Given the description of an element on the screen output the (x, y) to click on. 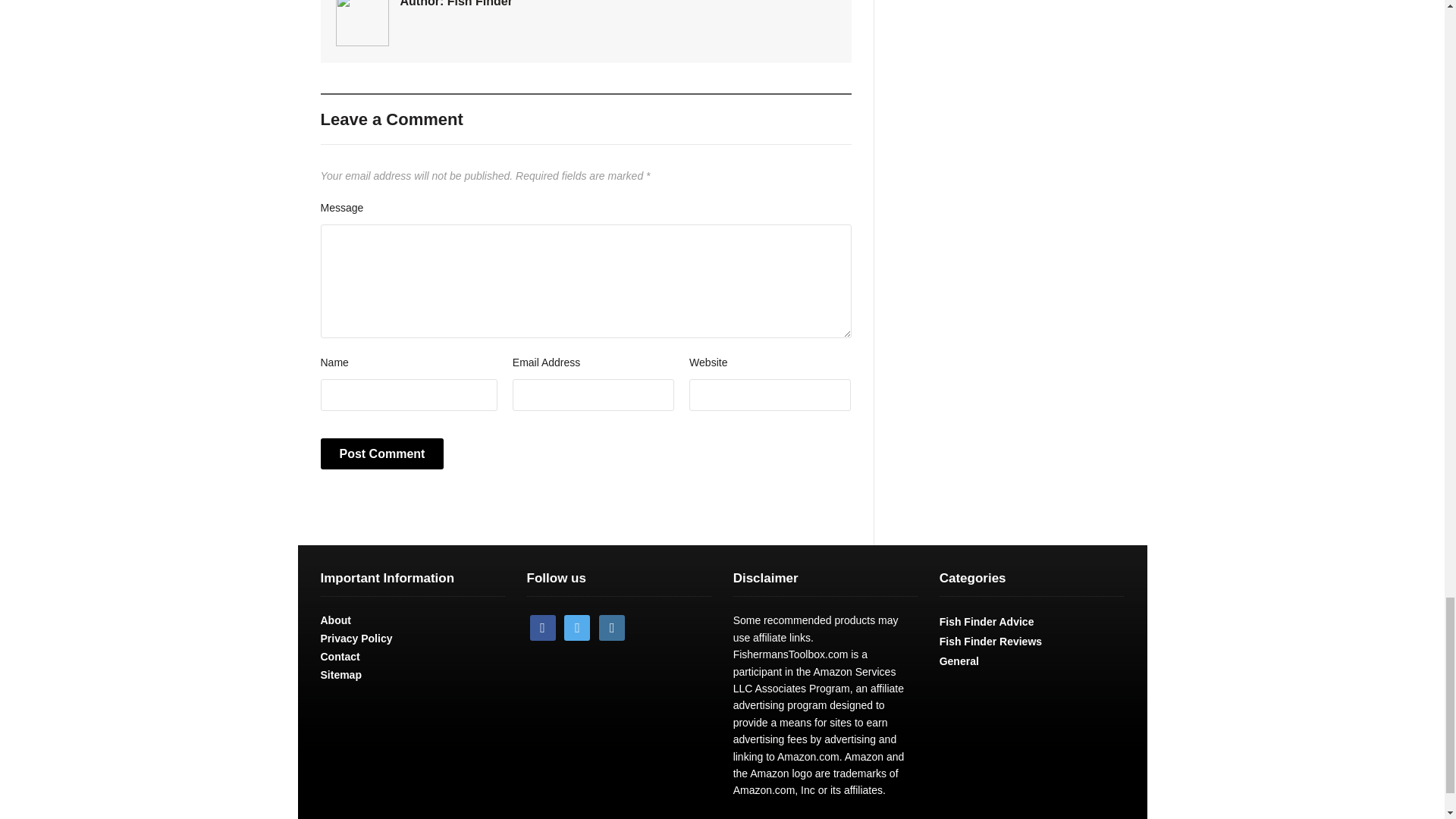
Instagram (611, 626)
Post Comment (382, 454)
Fish Finder (479, 3)
Posts by Fish Finder (479, 3)
Friend me on Facebook (542, 626)
Post Comment (382, 454)
Follow Me (576, 626)
